Given the description of an element on the screen output the (x, y) to click on. 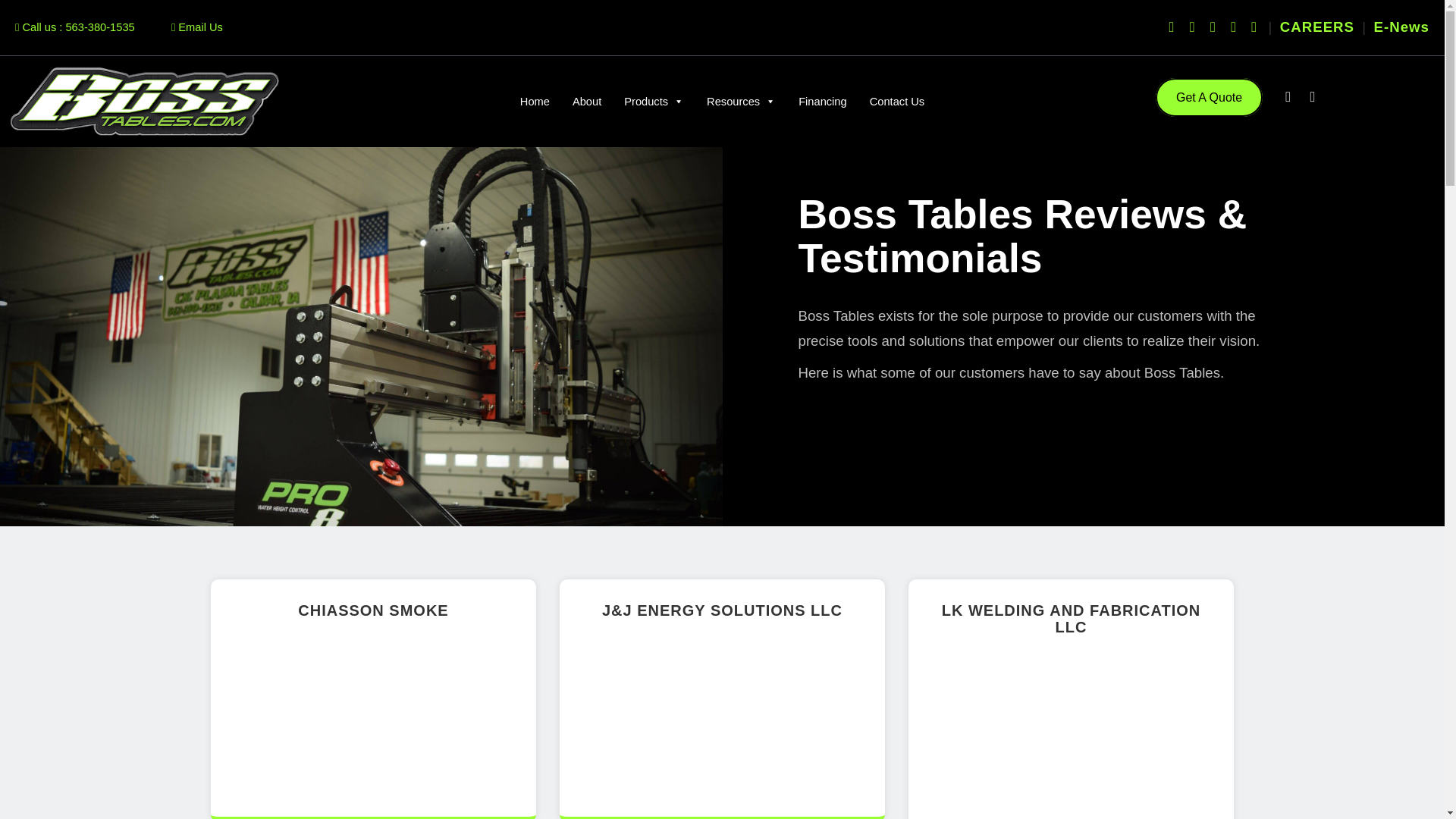
Products (653, 101)
About (586, 101)
Resources (741, 101)
Home (534, 101)
Boss Tables Logo (144, 101)
Open our YouTube (1213, 26)
Open our Facebook (1171, 26)
Open our LinkedIn (1253, 26)
Open our Tiktok (1233, 26)
Call us : 563-380-1535 (74, 27)
Open our Instagram (1401, 26)
Email Us (1192, 26)
